Given the description of an element on the screen output the (x, y) to click on. 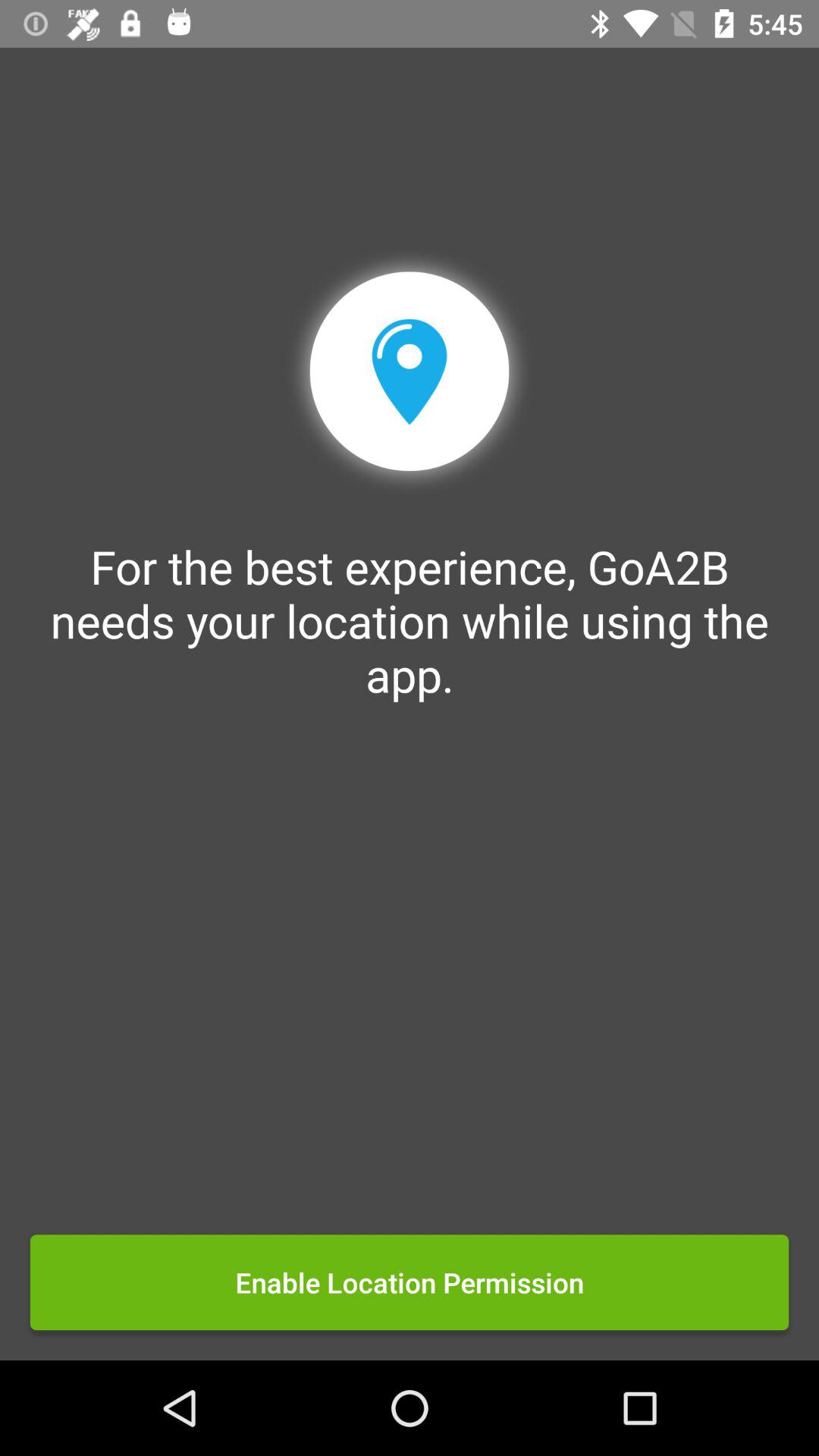
swipe to enable location permission (409, 1282)
